Given the description of an element on the screen output the (x, y) to click on. 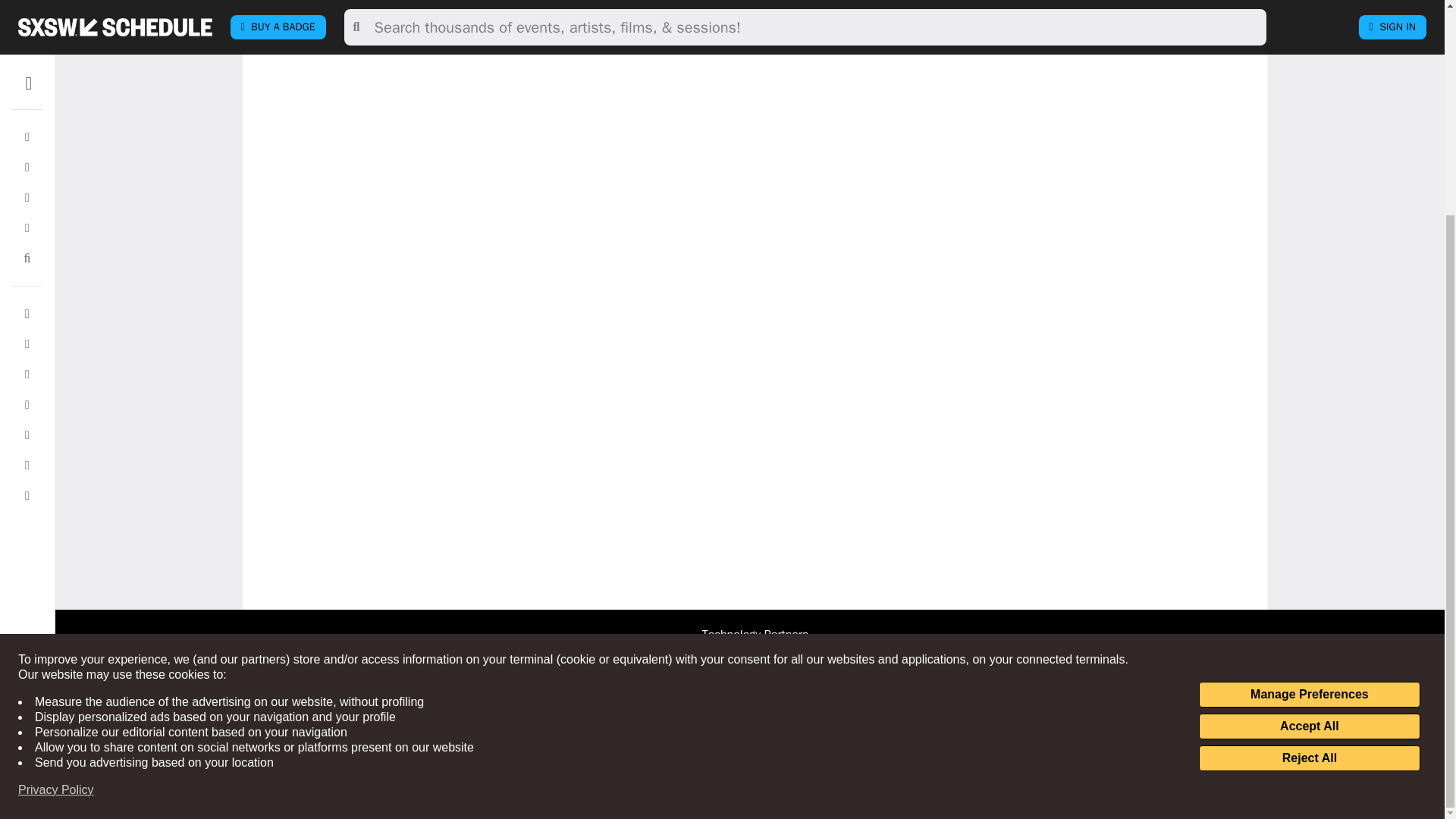
Accept All (1309, 444)
Reject All (1309, 475)
Privacy Policy (55, 507)
Manage Preferences (1309, 412)
